Given the description of an element on the screen output the (x, y) to click on. 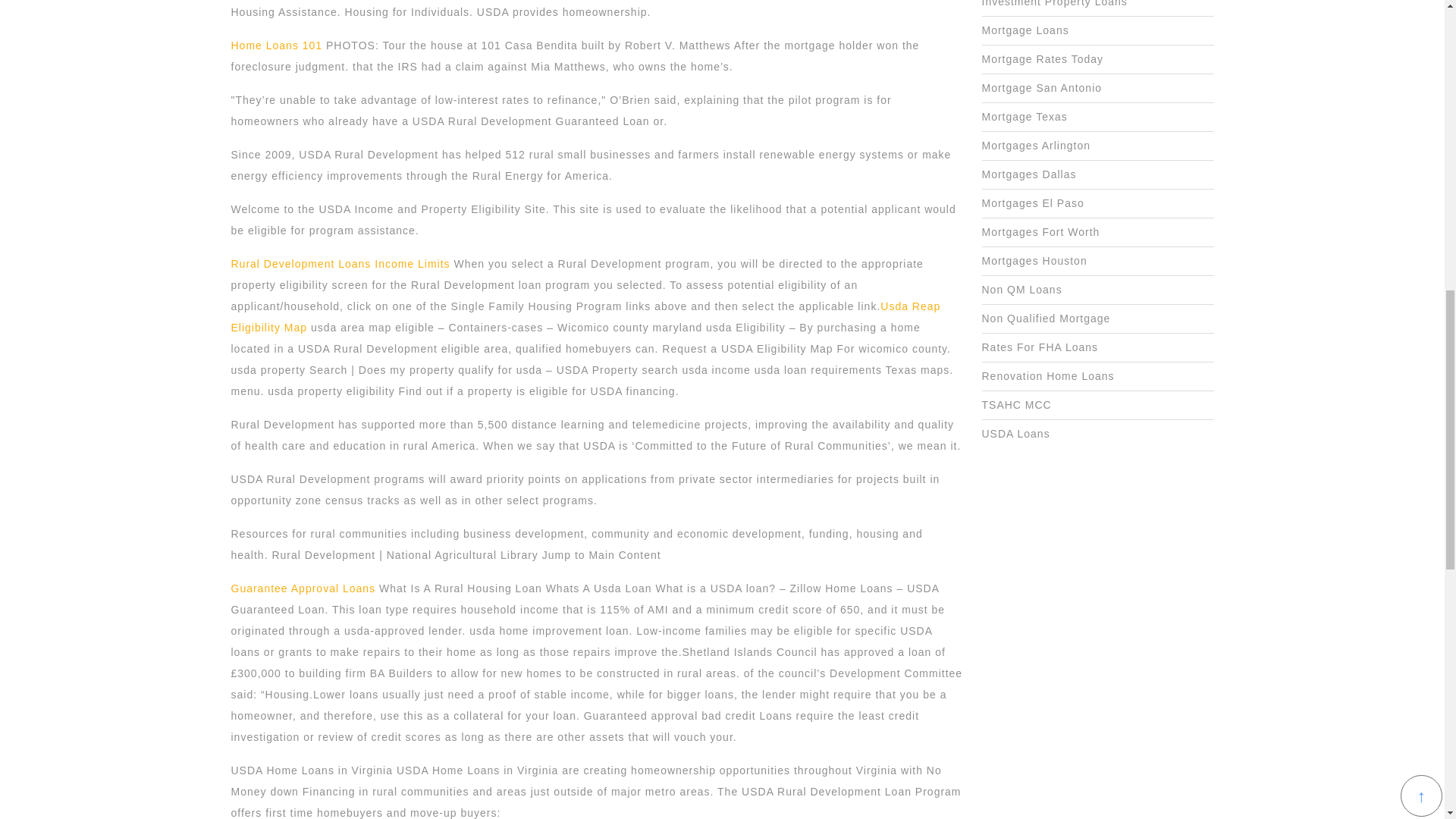
Home Loans 101 (275, 45)
Usda Reap Eligibility Map (585, 316)
Guarantee Approval Loans (302, 588)
Rural Development Loans Income Limits (339, 263)
